Given the description of an element on the screen output the (x, y) to click on. 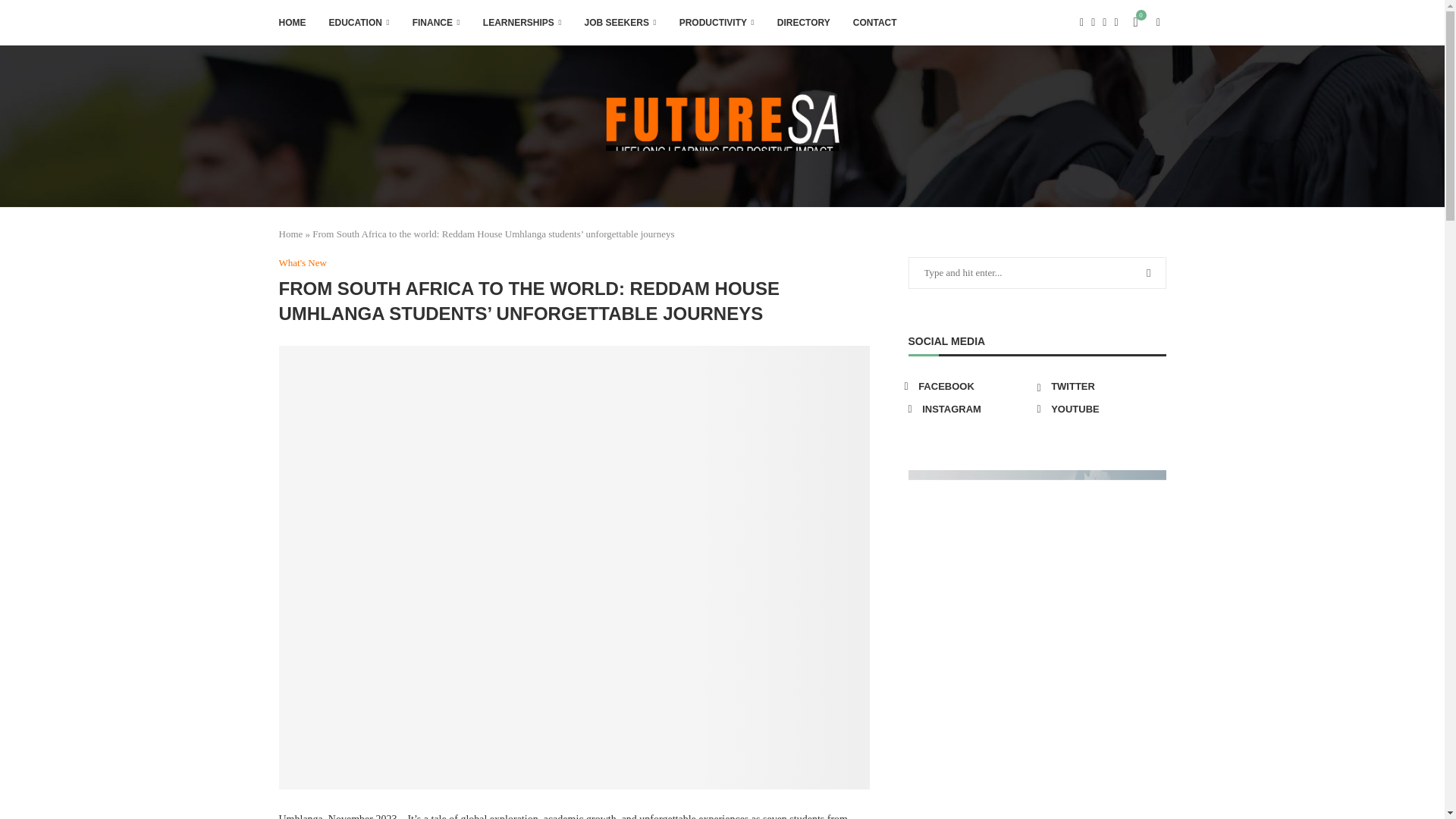
FINANCE (436, 22)
EDUCATION (359, 22)
LEARNERSHIPS (522, 22)
JOB SEEKERS (620, 22)
